Given the description of an element on the screen output the (x, y) to click on. 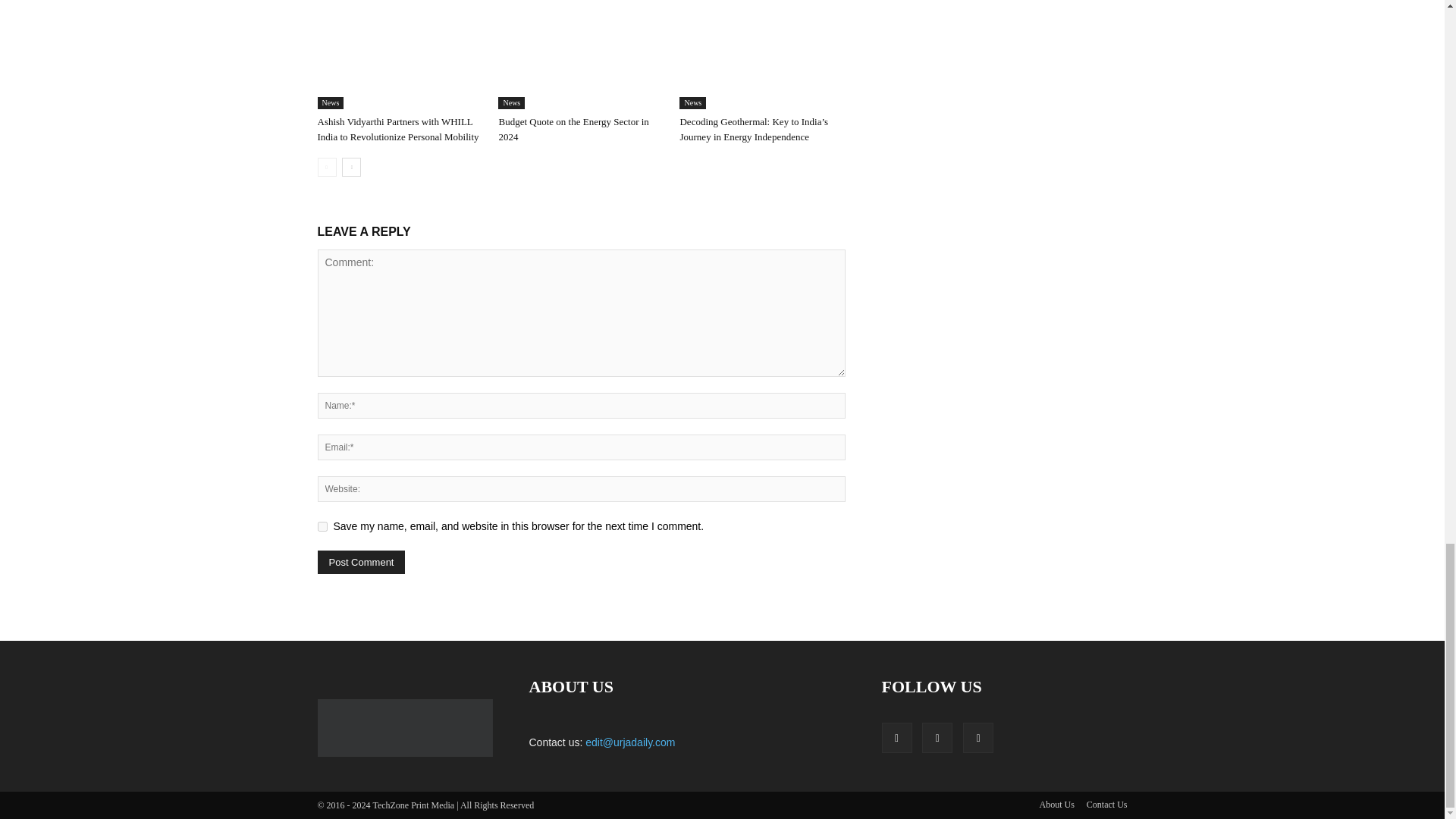
yes (321, 526)
Post Comment (360, 562)
